Given the description of an element on the screen output the (x, y) to click on. 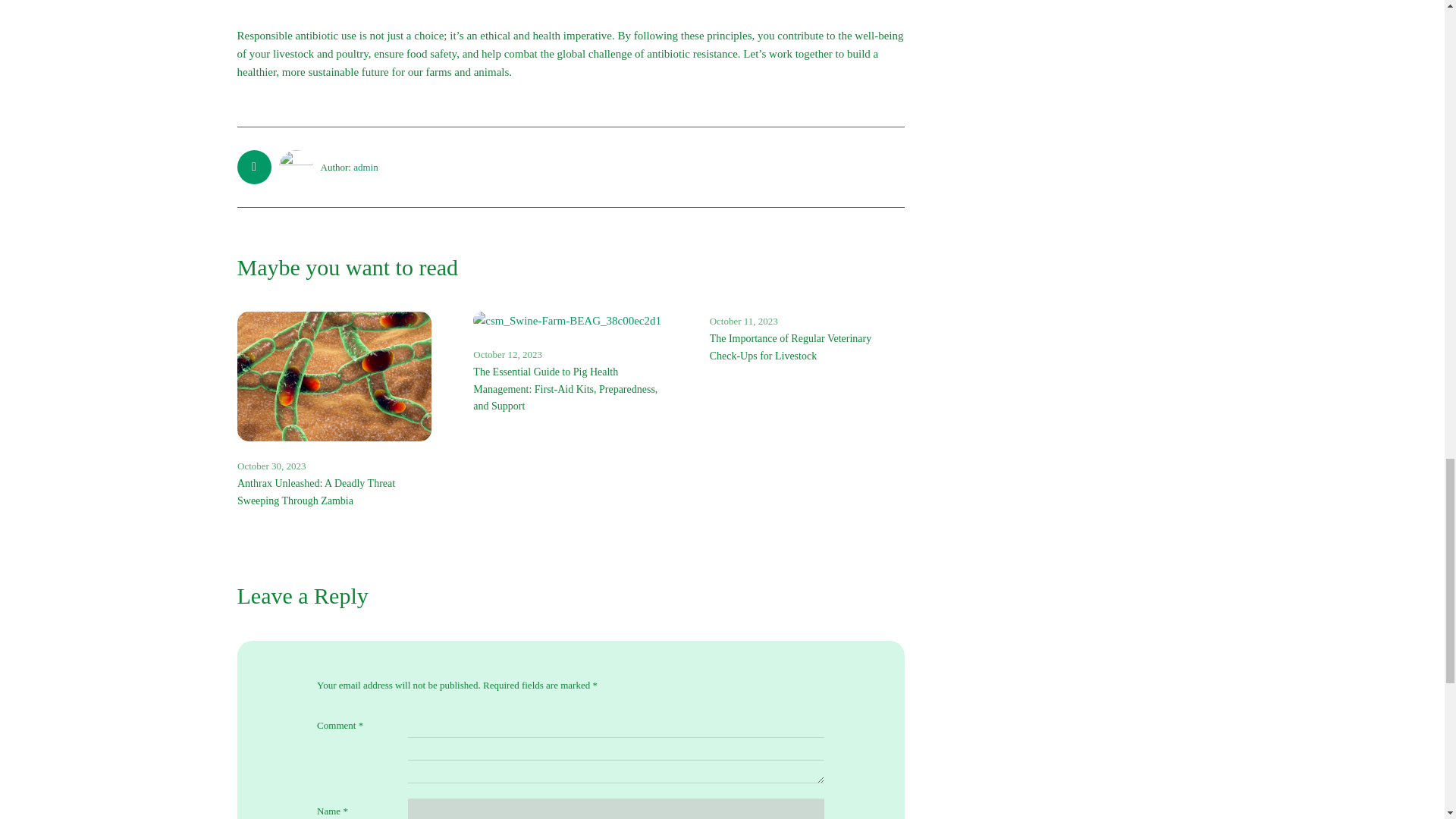
Anthrax Unleashed: A Deadly Threat Sweeping Through Zambia (315, 491)
undefined (333, 376)
Posts by admin (365, 166)
The Importance of Regular Veterinary Check-Ups for Livestock (791, 346)
admin (365, 166)
